Given the description of an element on the screen output the (x, y) to click on. 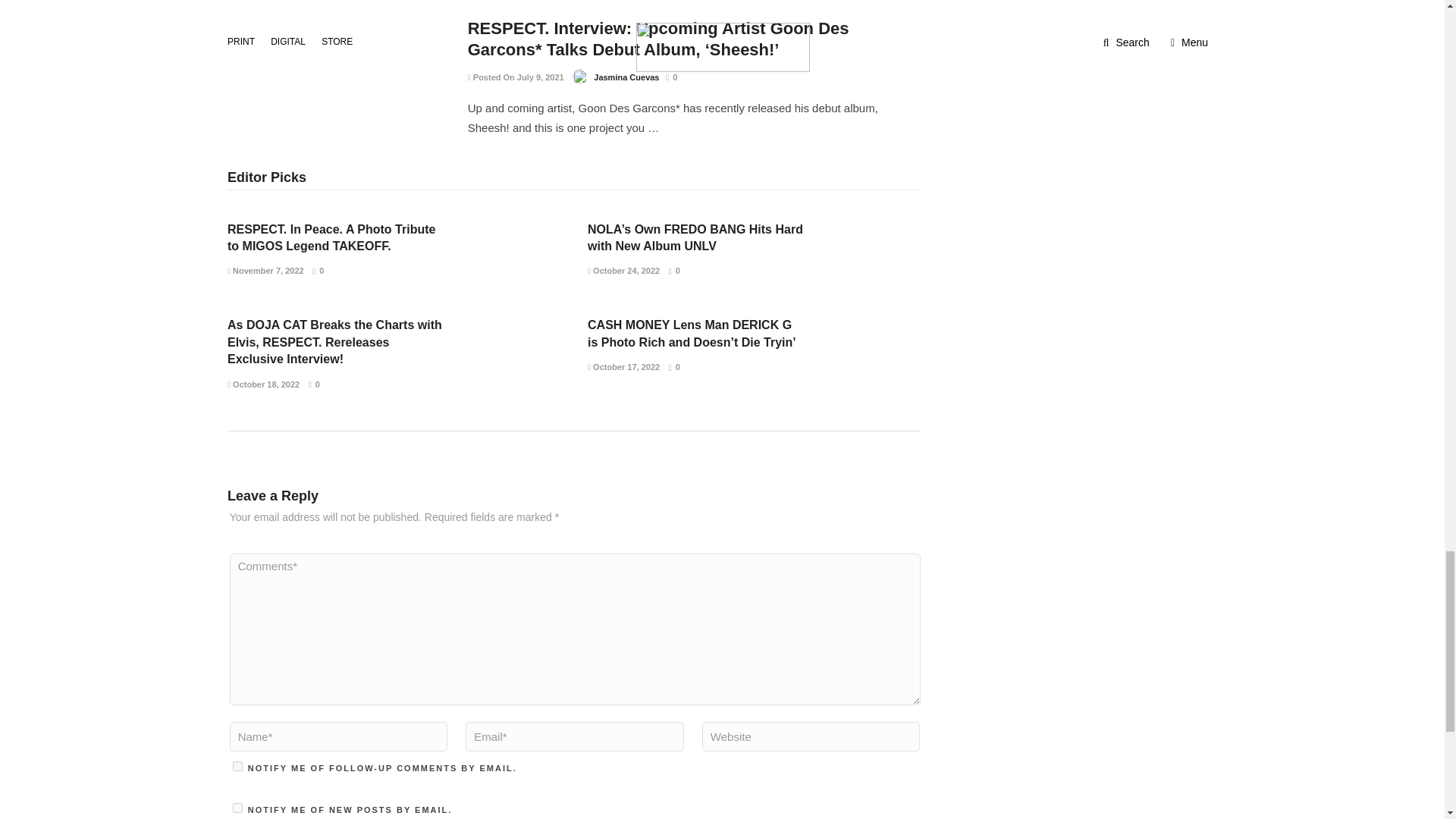
RESPECT. In Peace. A Photo Tribute to MIGOS Legend TAKEOFF. (331, 237)
subscribe (237, 808)
subscribe (237, 766)
